Given the description of an element on the screen output the (x, y) to click on. 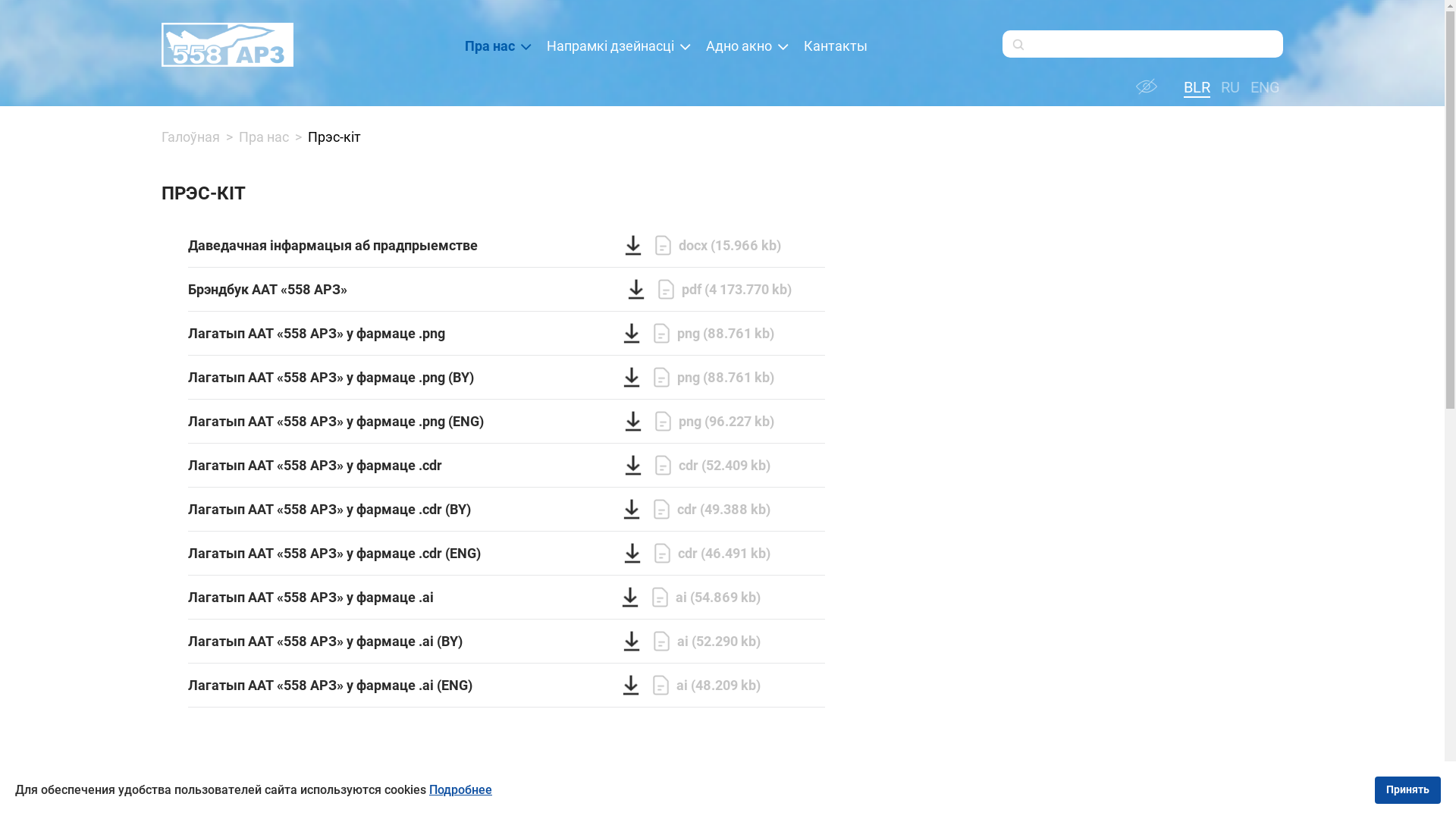
BLR Element type: text (1194, 86)
ENG Element type: text (1263, 86)
RU Element type: text (1227, 86)
